Given the description of an element on the screen output the (x, y) to click on. 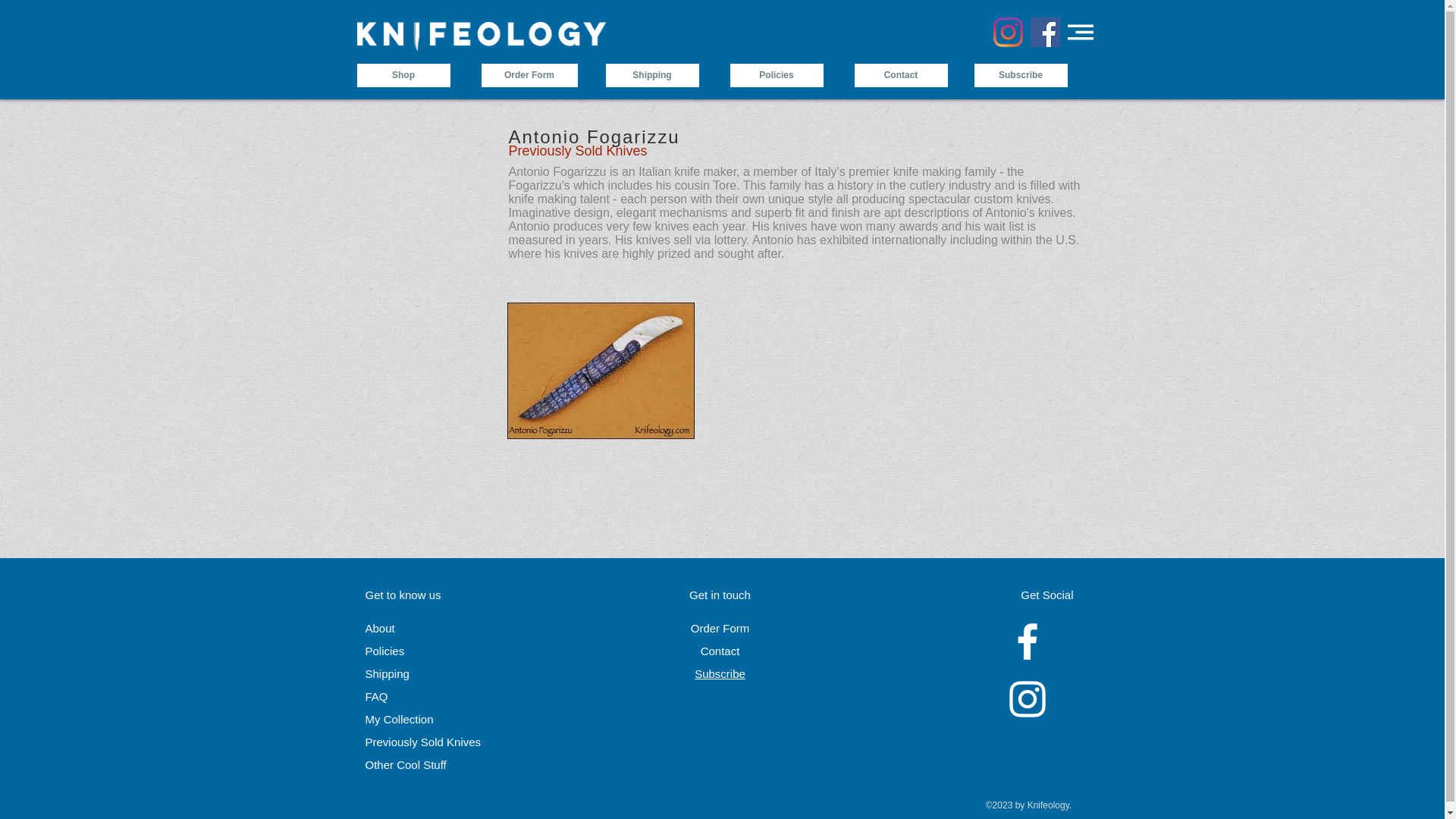
Subscribe (1020, 74)
Shipping (651, 74)
About (379, 627)
Contact (900, 74)
Policies (775, 74)
Shop (402, 74)
Subscribe (719, 673)
Shipping (387, 673)
Policies (384, 650)
My Collection (399, 718)
Previously Sold Knives (423, 741)
FAQ (376, 696)
Order Form (528, 74)
Contact (719, 650)
Other Cool Stuff (405, 764)
